Given the description of an element on the screen output the (x, y) to click on. 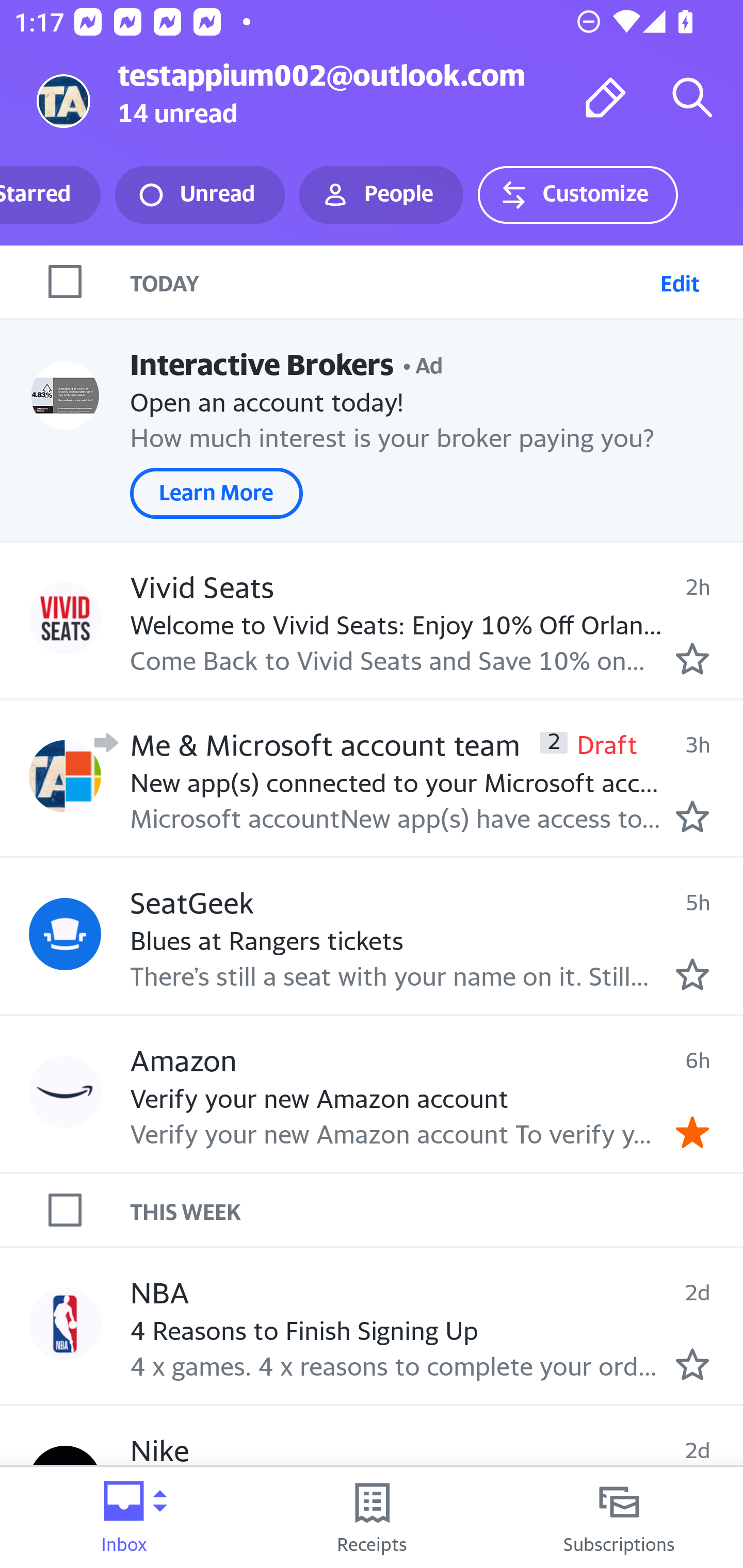
Compose (605, 97)
Search mail (692, 97)
Unread (199, 195)
People (381, 195)
Customize (577, 195)
TODAY (391, 281)
Edit Select emails (679, 281)
Profile
Vivid Seats (64, 617)
Mark as starred. (692, 659)
Profile
Me & Microsoft account team (64, 776)
Mark as starred. (692, 816)
Profile
SeatGeek (64, 934)
Mark as starred. (692, 974)
Profile
Amazon (64, 1091)
Remove star. (692, 1132)
THIS WEEK (436, 1209)
Profile
NBA (64, 1323)
Mark as starred. (692, 1364)
Inbox Folder picker (123, 1517)
Receipts (371, 1517)
Subscriptions (619, 1517)
